Given the description of an element on the screen output the (x, y) to click on. 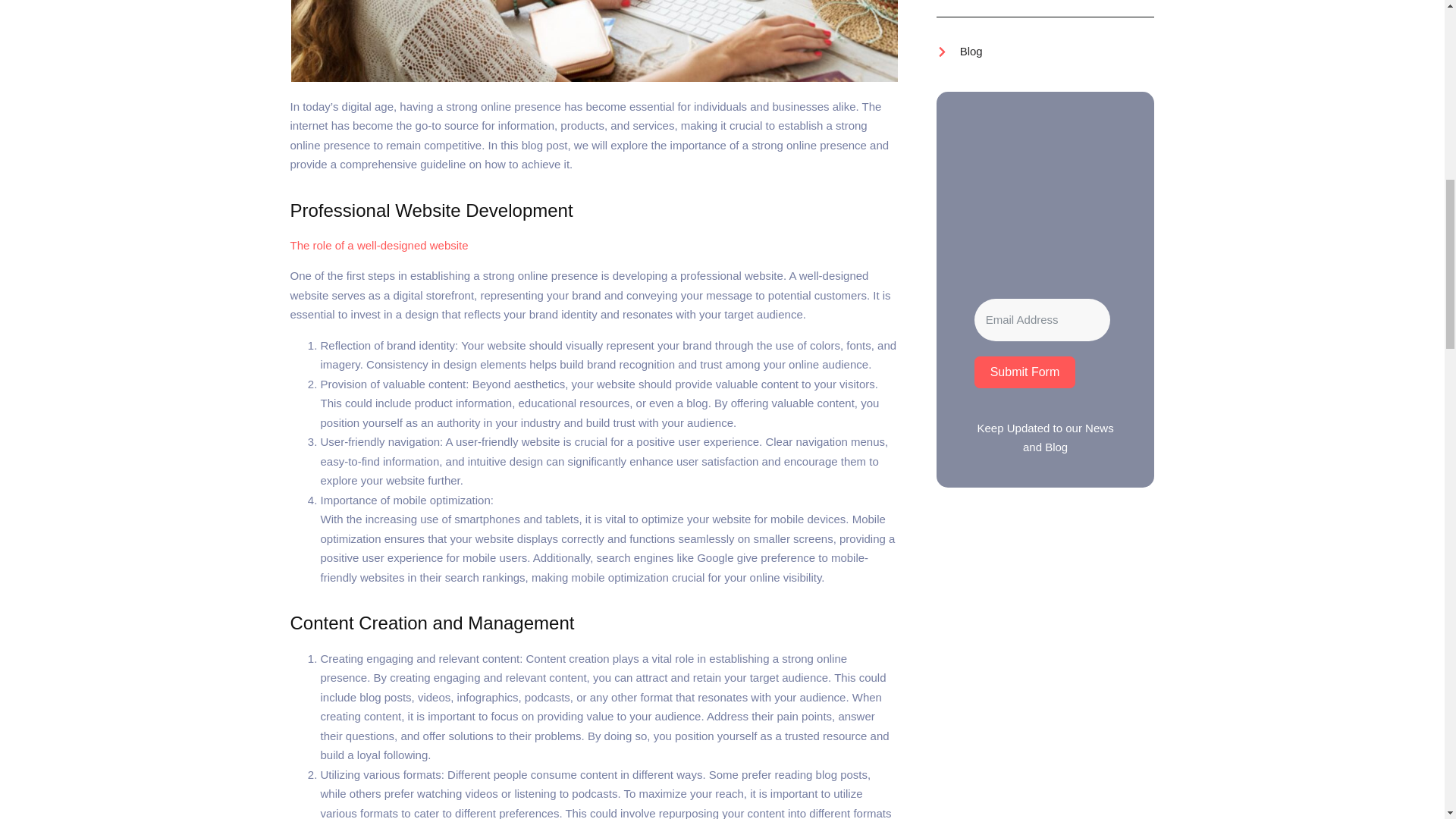
Submit Form (1024, 372)
The role of a well-designed website (378, 245)
Blog (959, 51)
